Given the description of an element on the screen output the (x, y) to click on. 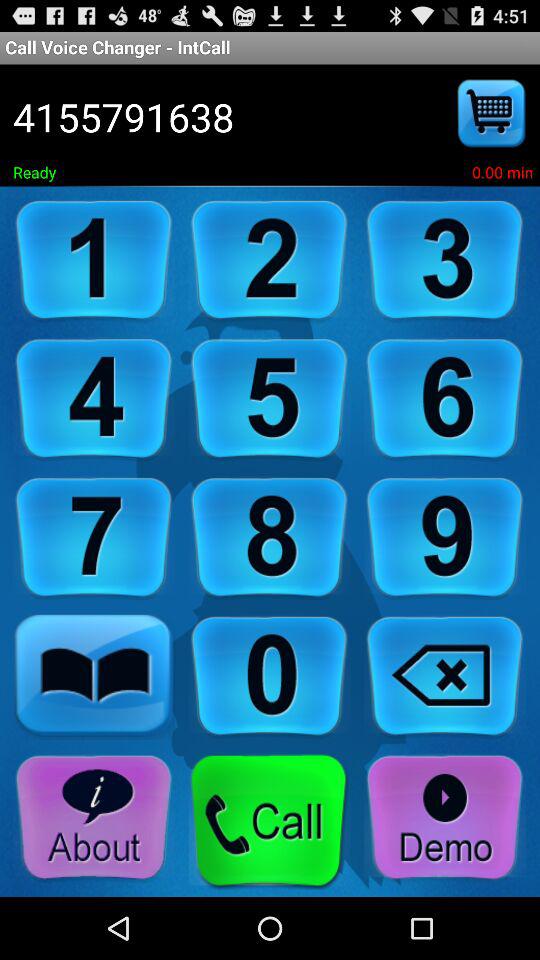
click on number seven (94, 538)
